Given the description of an element on the screen output the (x, y) to click on. 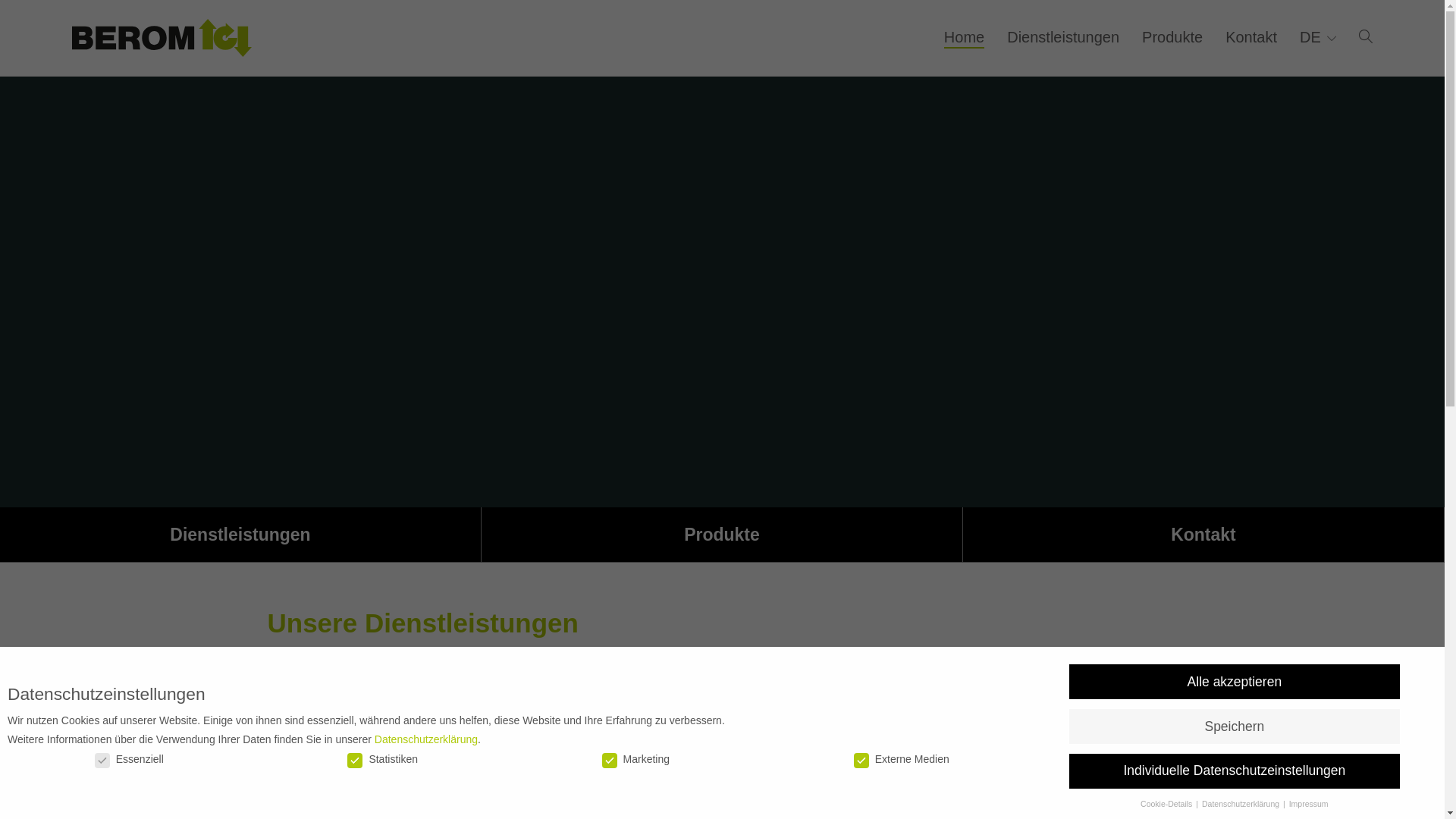
Cookie-Details Element type: text (1167, 803)
Produkte Element type: text (721, 534)
Dienstleistungen Element type: text (240, 534)
Speichern Element type: text (1234, 726)
Kontakt Element type: text (1251, 37)
Individuelle Datenschutzeinstellungen Element type: text (1234, 770)
DE Element type: text (1317, 37)
Impressum Element type: text (1308, 803)
Produkte Element type: text (1172, 37)
Kontakt Element type: text (1203, 534)
Alle akzeptieren Element type: text (1234, 681)
Home Element type: text (964, 37)
Dienstleistungen Element type: text (1063, 37)
